Given the description of an element on the screen output the (x, y) to click on. 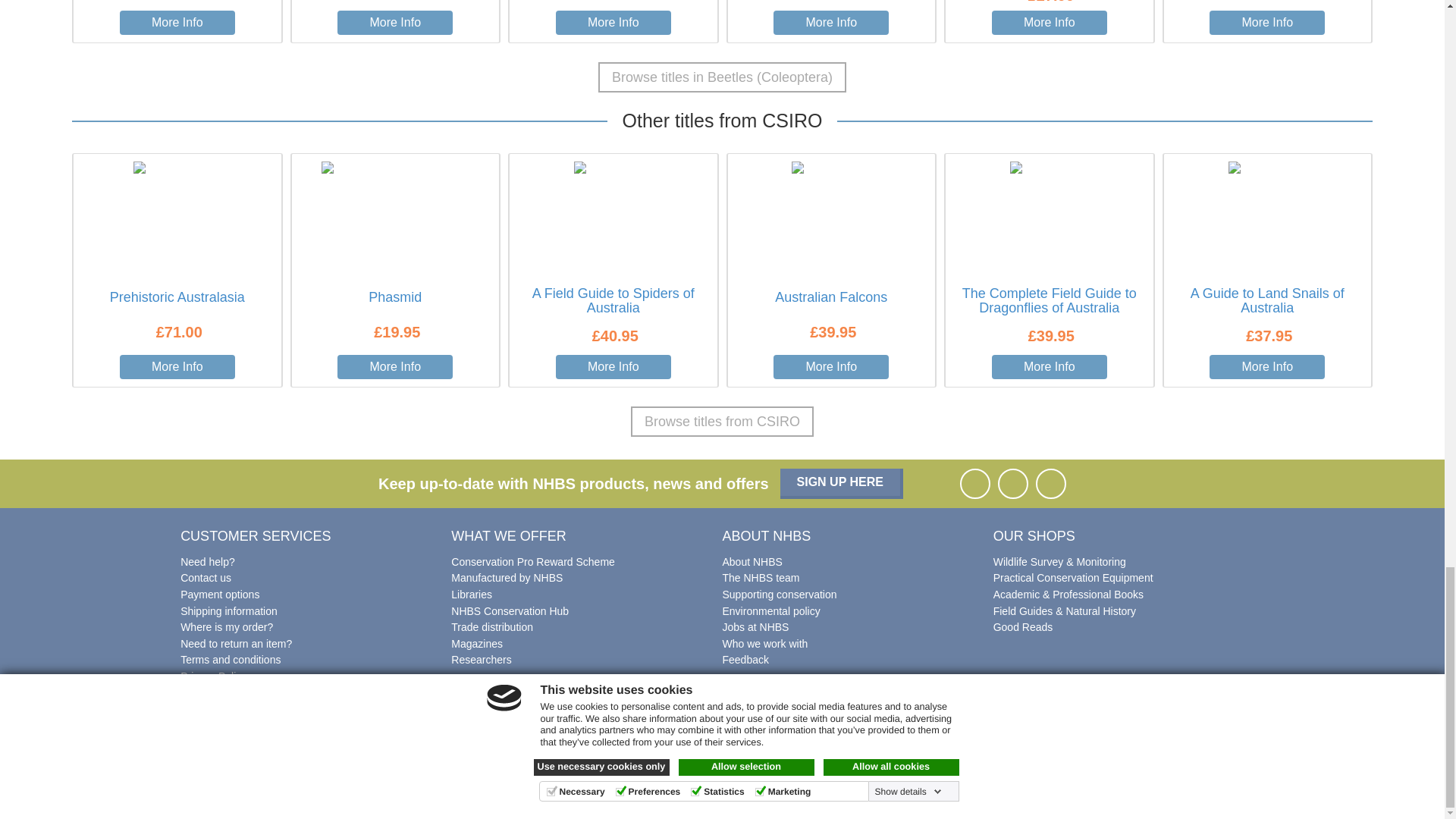
Sign up here (841, 483)
